Given the description of an element on the screen output the (x, y) to click on. 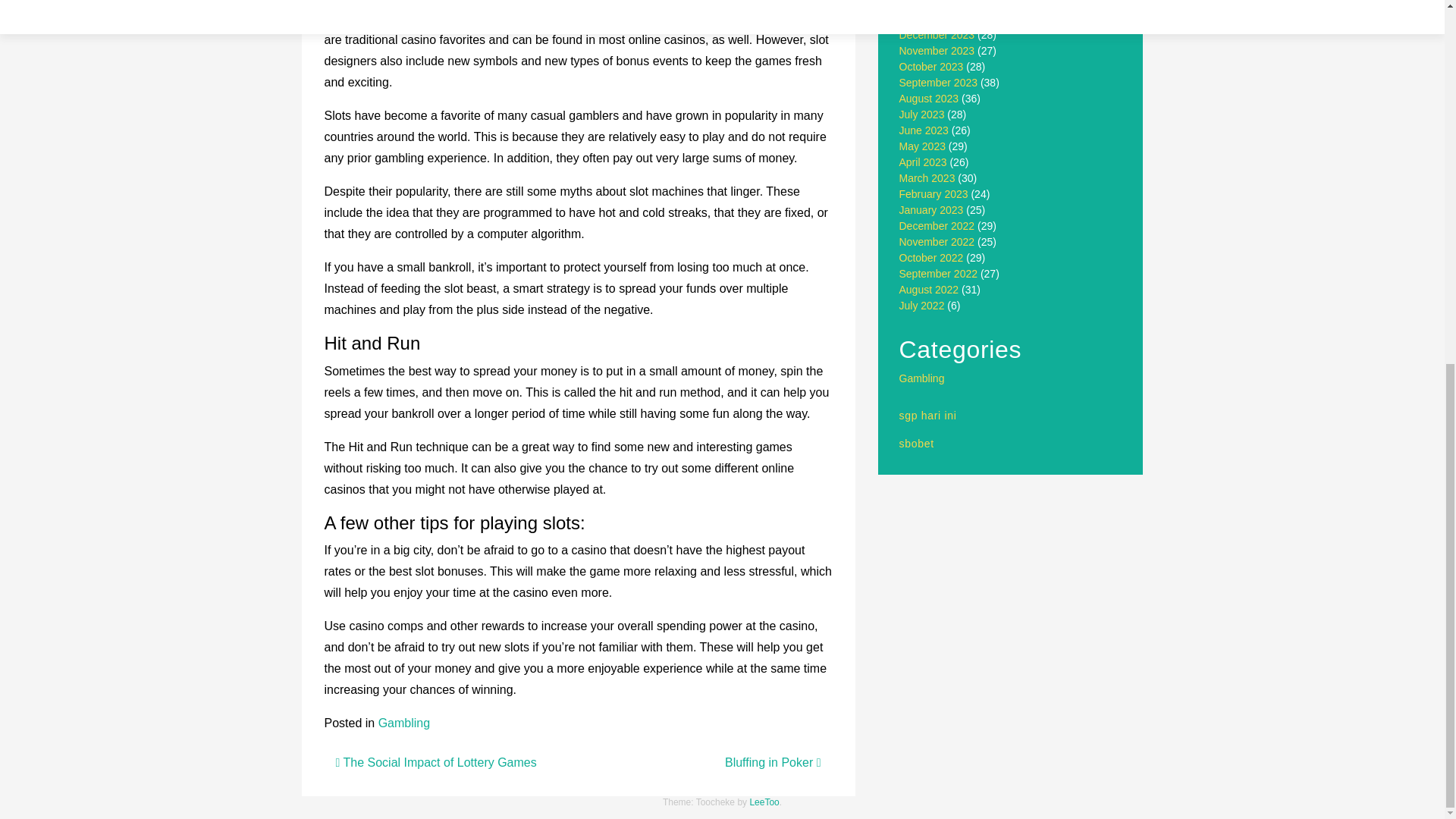
December 2022 (937, 225)
February 2023 (933, 193)
November 2022 (937, 241)
Gambling (921, 378)
October 2022 (931, 257)
sgp hari ini (927, 415)
 The Social Impact of Lottery Games (434, 762)
August 2023 (929, 98)
January 2023 (931, 209)
July 2023 (921, 114)
April 2023 (923, 162)
December 2023 (937, 34)
September 2023 (938, 82)
Gambling (403, 722)
May 2023 (921, 146)
